Given the description of an element on the screen output the (x, y) to click on. 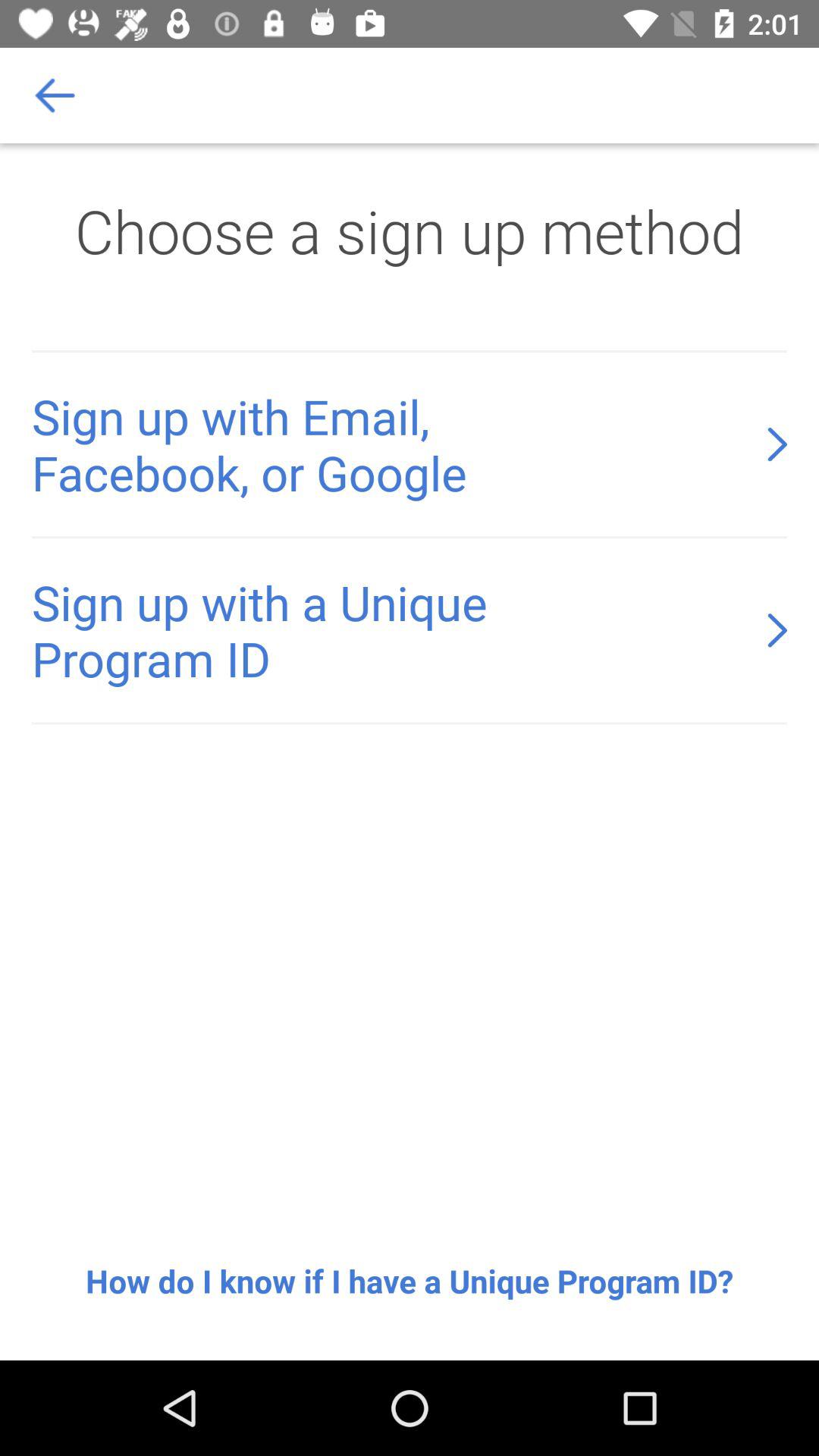
select the how do i (409, 1280)
